Given the description of an element on the screen output the (x, y) to click on. 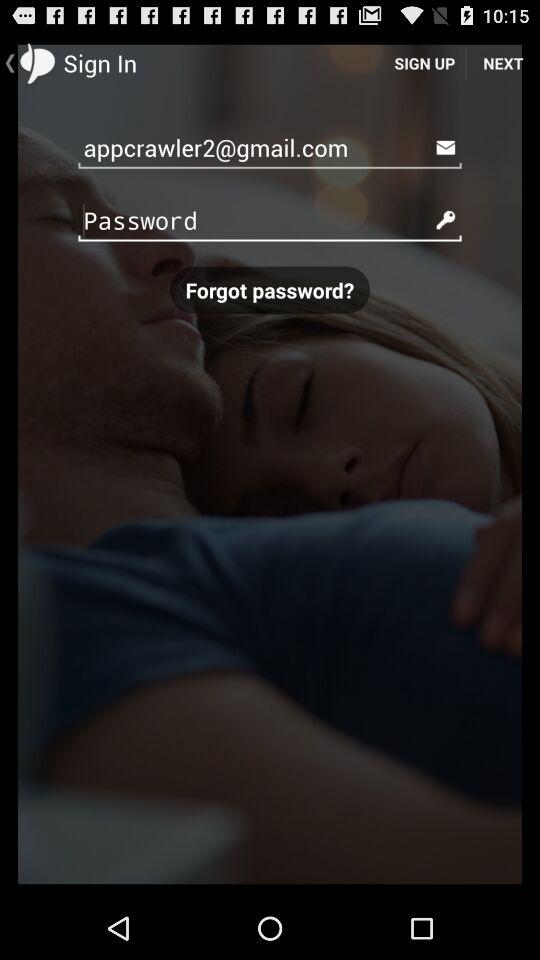
jump to the sign up (424, 62)
